Given the description of an element on the screen output the (x, y) to click on. 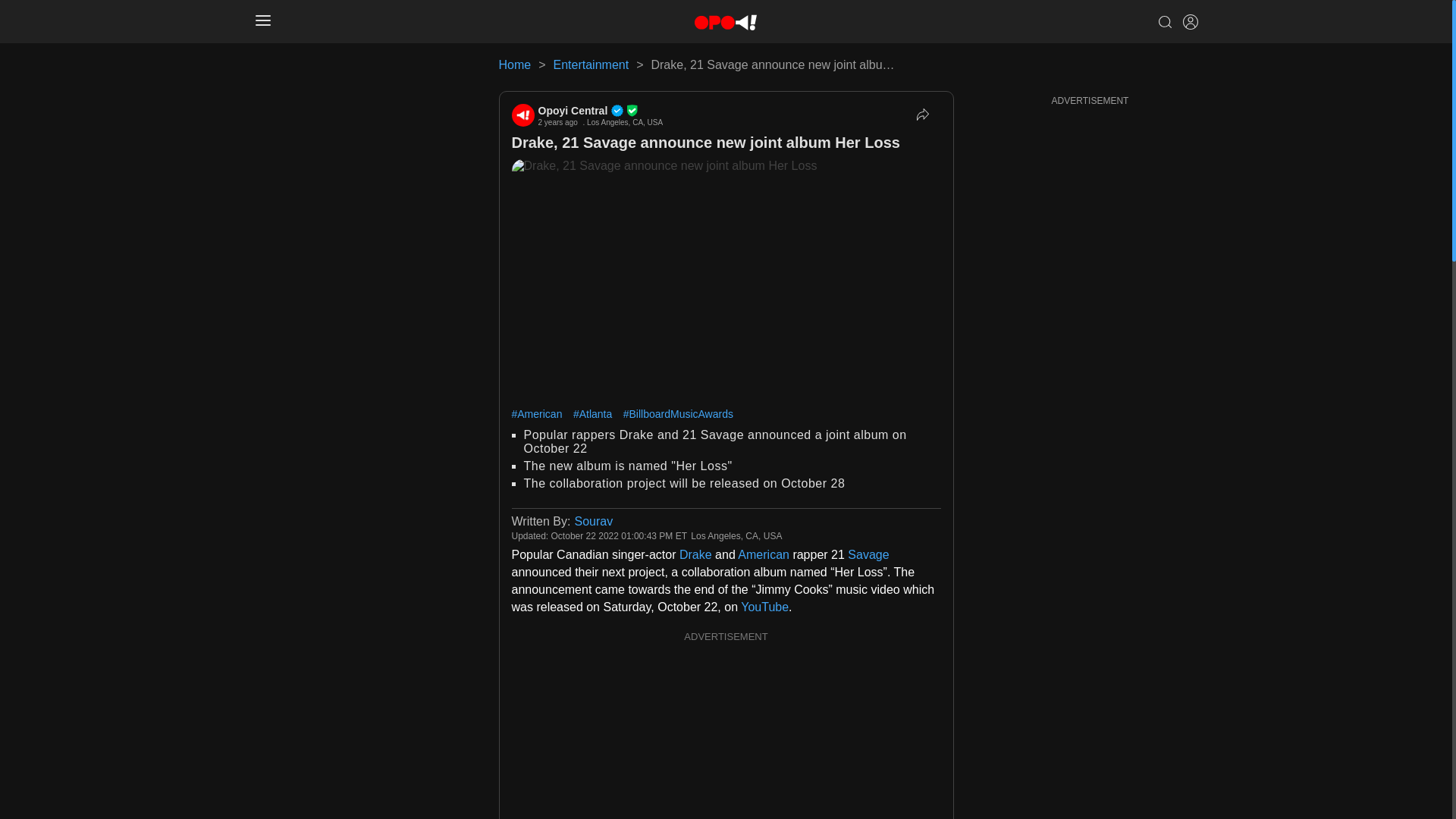
Opoyi Central (600, 110)
Drake, 21 Savage announce new joint album Her Loss (705, 142)
Entertainment (590, 64)
 Opoyi Central (522, 115)
Opoyi Central (600, 110)
Home (515, 64)
Sourav (592, 521)
